Given the description of an element on the screen output the (x, y) to click on. 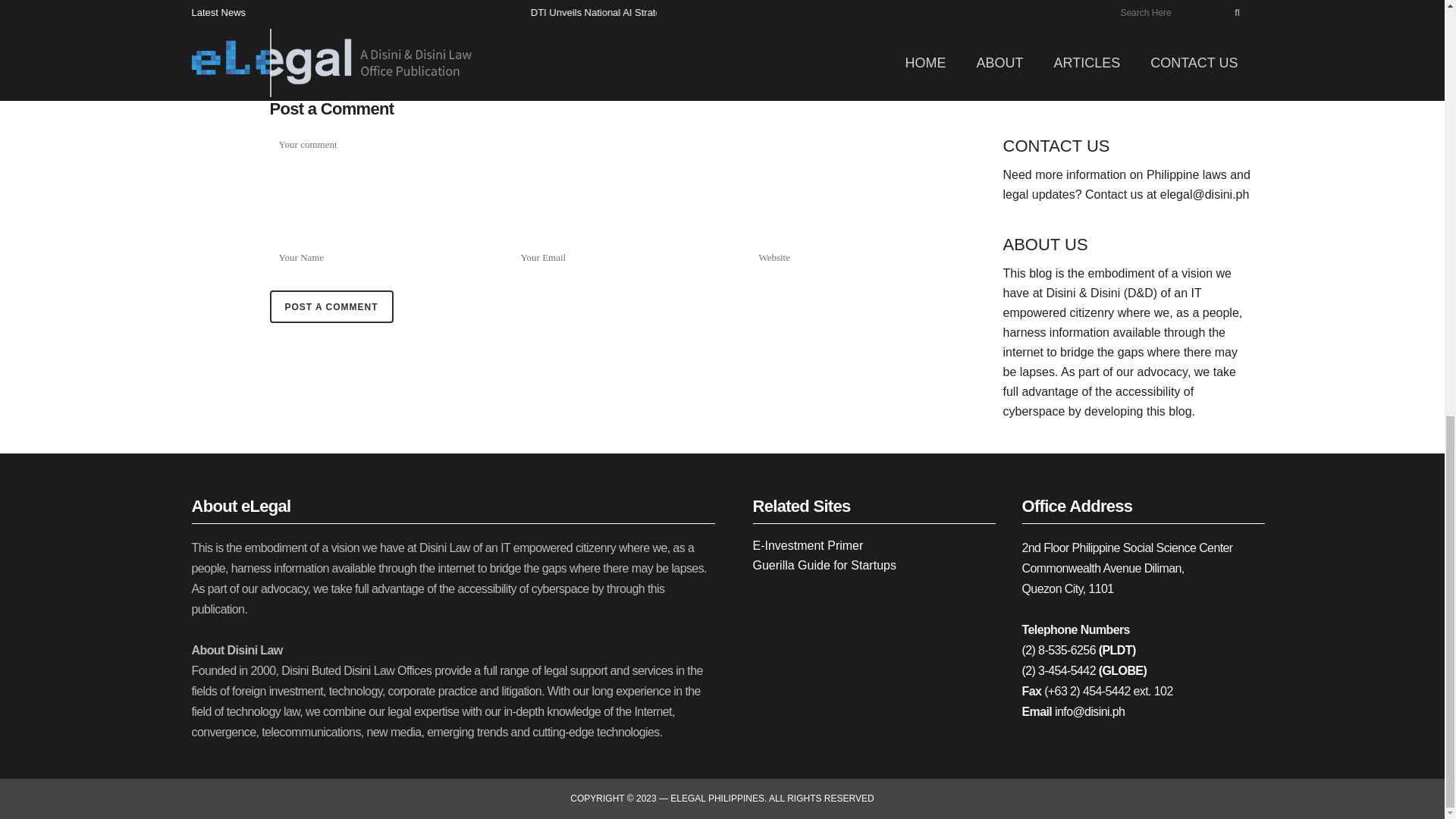
Post a Comment (331, 306)
